Given the description of an element on the screen output the (x, y) to click on. 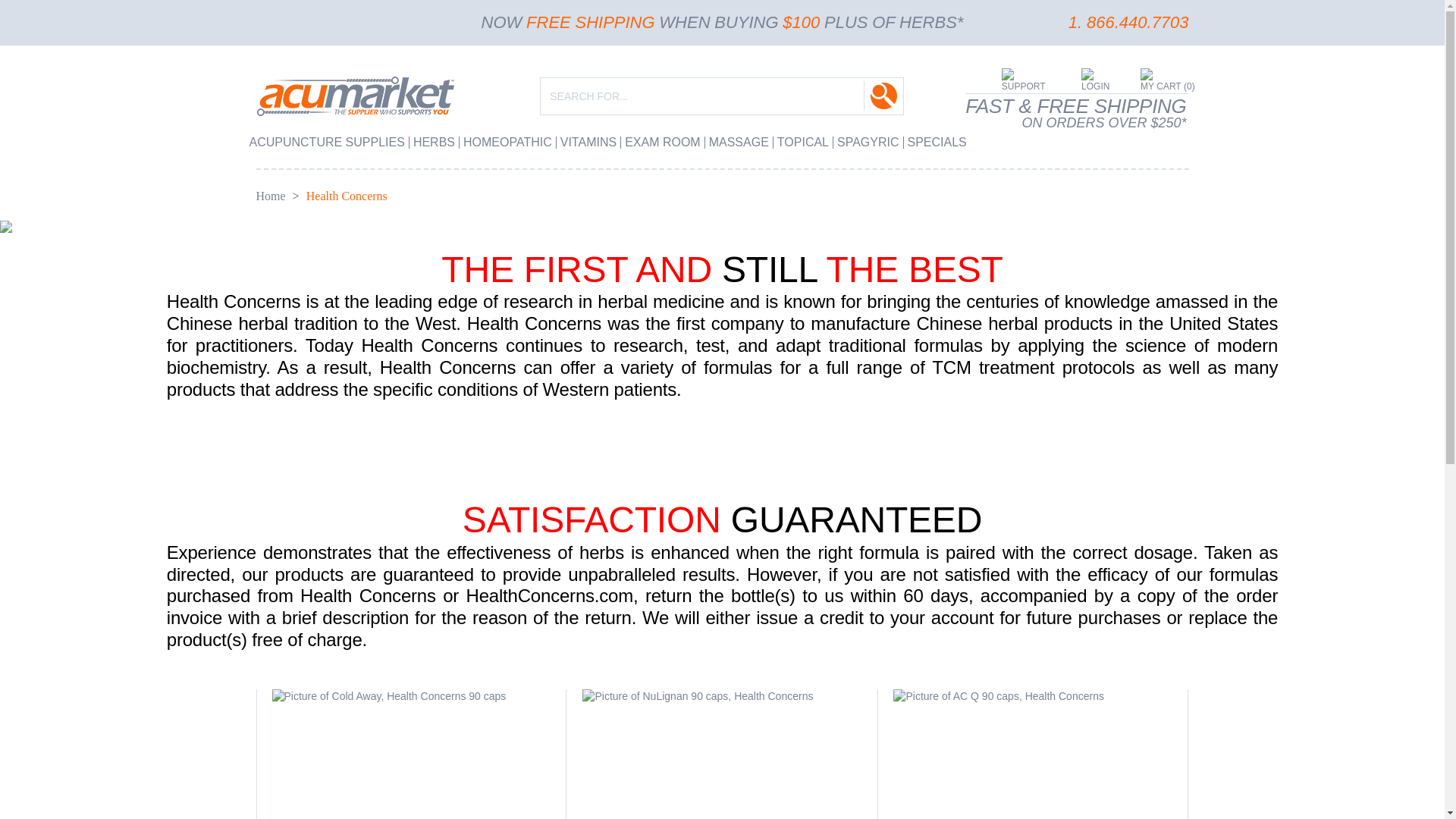
Show details for AC Q 90 caps, Health Concerns (1032, 696)
